Given the description of an element on the screen output the (x, y) to click on. 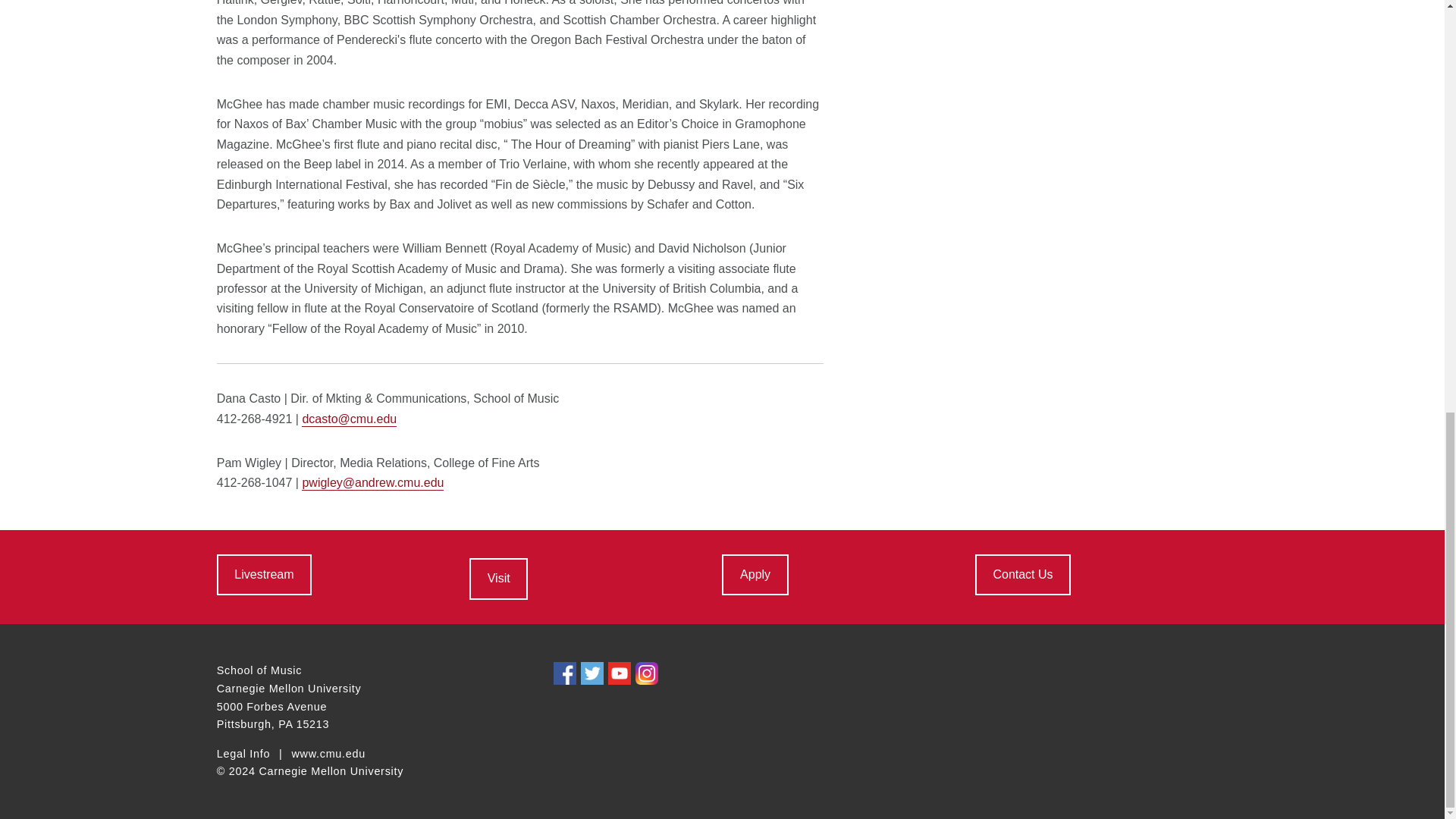
CMU on Facebook (564, 672)
CMU Music Youtube (263, 574)
Visit (497, 577)
CMU on Instagram (646, 672)
Contact Us (1022, 574)
www.cmu.edu (328, 754)
CMU YouTube Channel (619, 672)
CMU on Twitter (592, 672)
Apply button (754, 574)
Apply (754, 574)
